Given the description of an element on the screen output the (x, y) to click on. 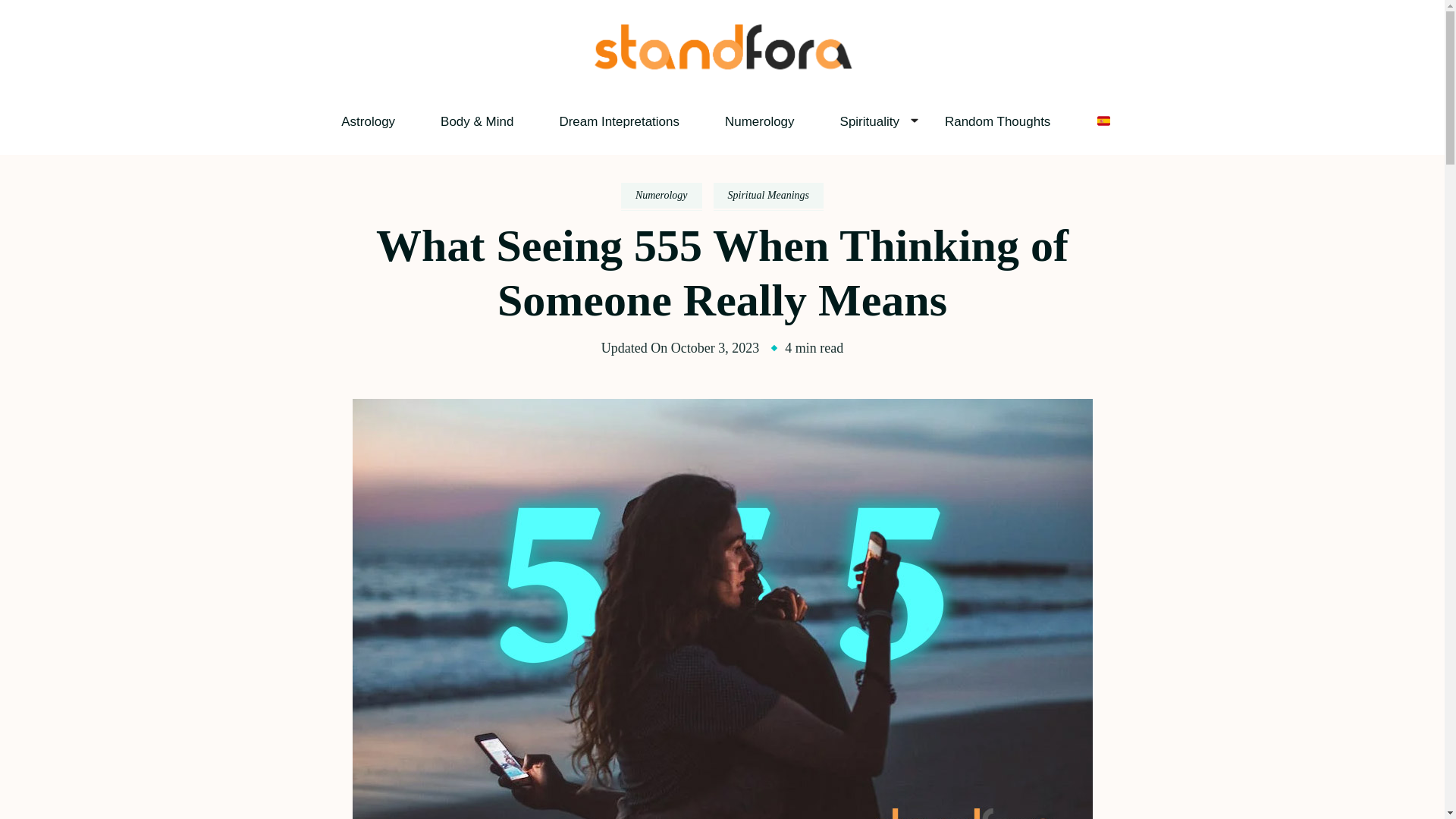
Random Thoughts (996, 121)
Numerology (661, 195)
Spiritual Meanings (768, 195)
Spirituality (869, 121)
Your Daily Dose of Spirituality (734, 94)
Astrology (367, 121)
Dream Intepretations (619, 121)
Numerology (759, 121)
October 3, 2023 (714, 347)
